Given the description of an element on the screen output the (x, y) to click on. 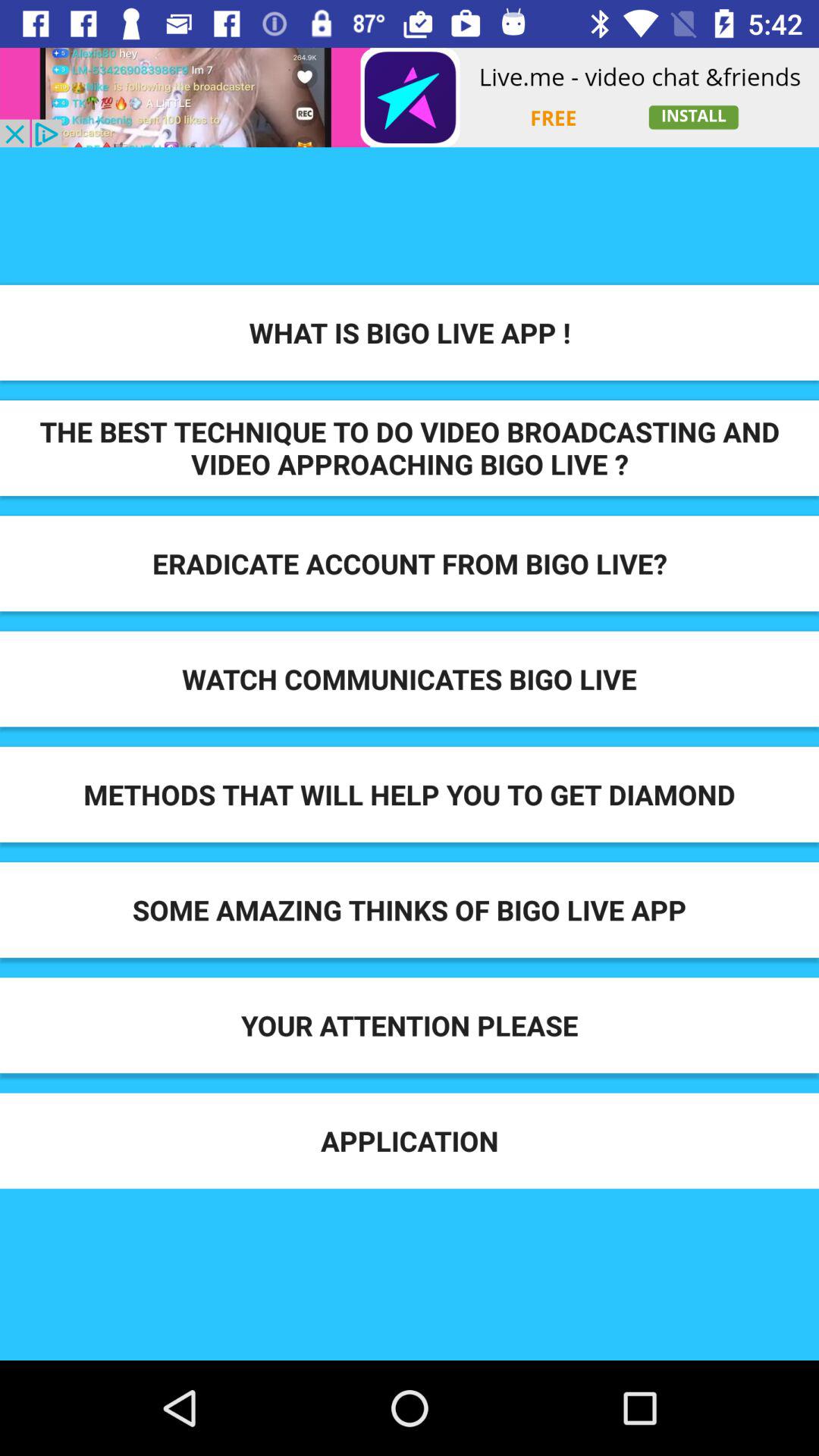
display advertisement (409, 97)
